Given the description of an element on the screen output the (x, y) to click on. 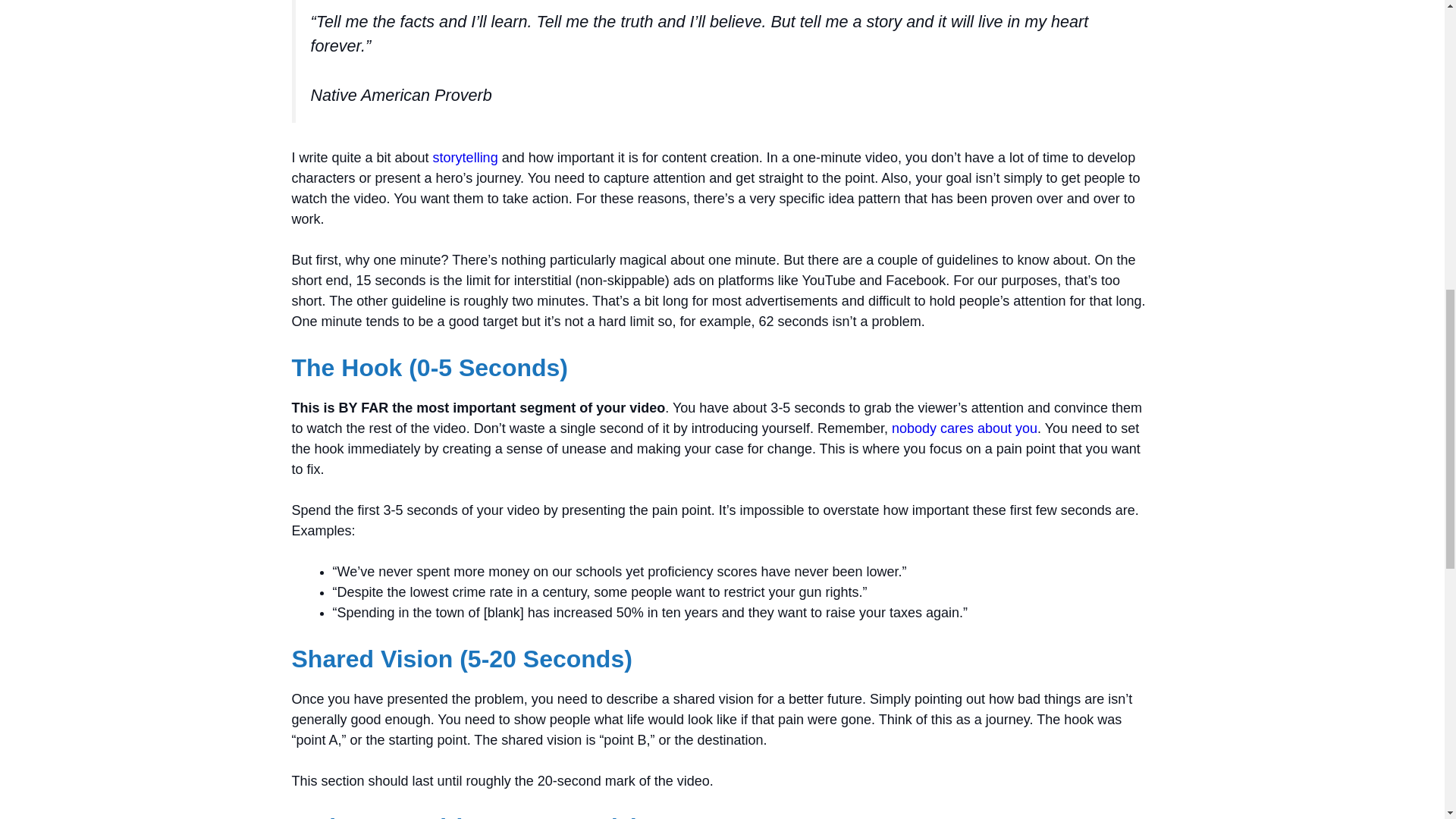
storytelling (467, 157)
nobody cares about you (963, 427)
